Given the description of an element on the screen output the (x, y) to click on. 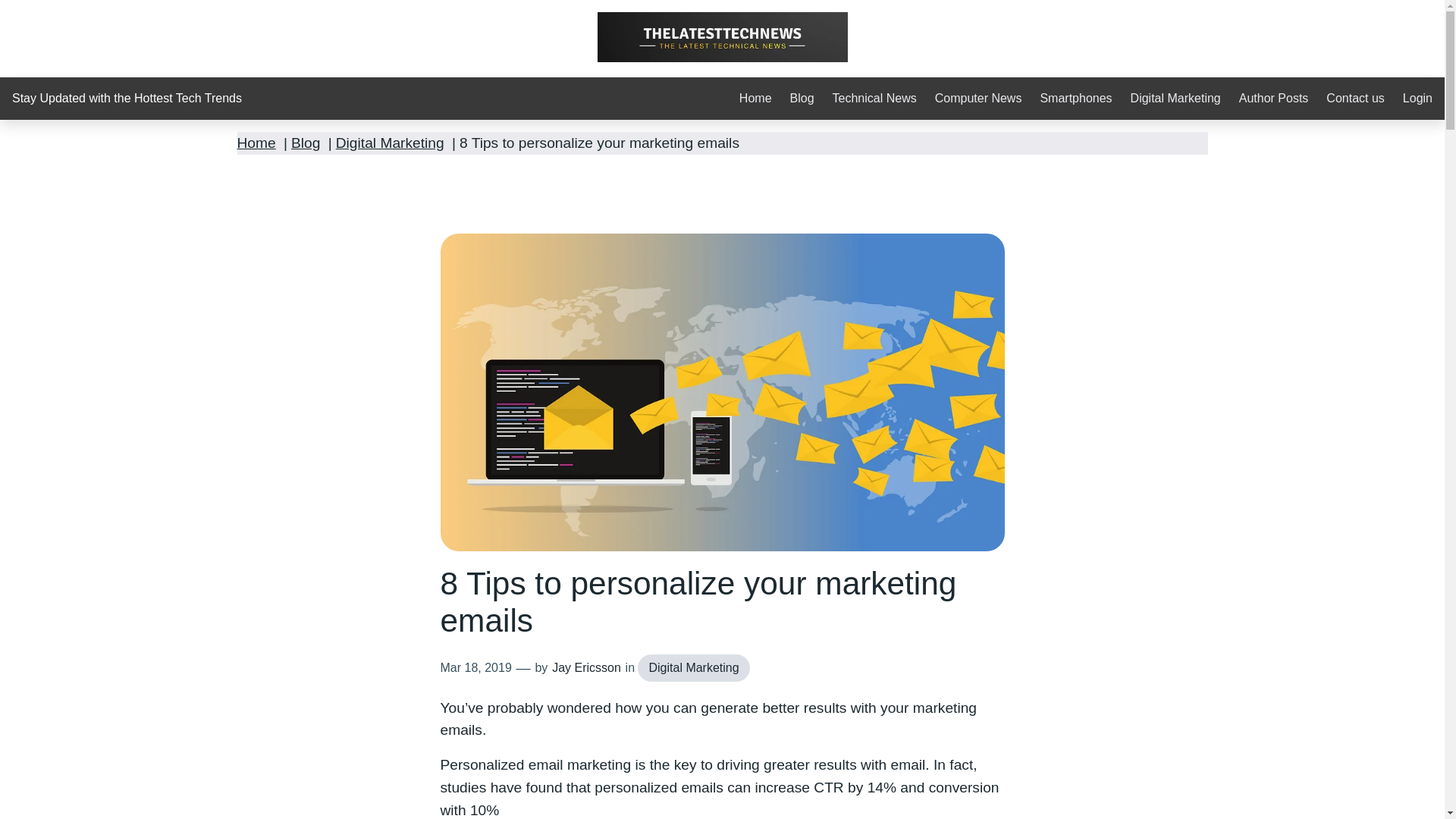
Digital Marketing (693, 668)
Smartphones (1075, 98)
Login (1417, 98)
Digital Marketing (1176, 98)
Computer News (978, 98)
Contact us (1355, 98)
Contact us (1355, 98)
Author Posts (1273, 98)
Mar 18, 2019 (475, 667)
Login (1417, 98)
